Given the description of an element on the screen output the (x, y) to click on. 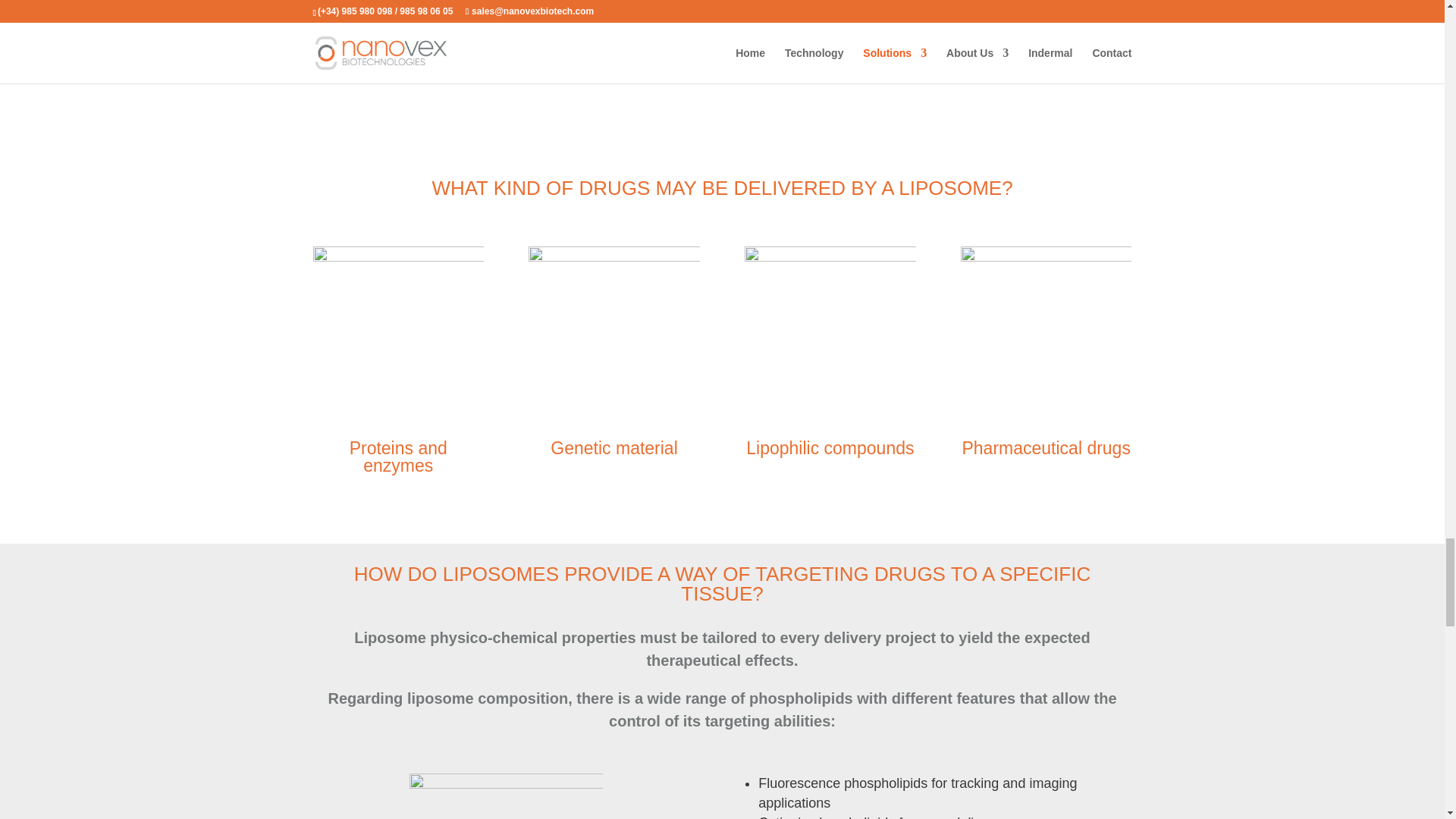
kind-of-drugs-delivered-in-a-liposome-proteins-and-enzymes (398, 331)
kind-of-drugs-delivered-in-a-liposome-lipid-compounds (829, 331)
kind-of-drugs-delivered-in-a-liposome-generic-material (613, 331)
kind-of-drugs-delivered-in-a-liposome-other.pharmaceuticals (1045, 331)
how-do-liposomes-provide-a-way-of-targeting-drugs (505, 796)
